Given the description of an element on the screen output the (x, y) to click on. 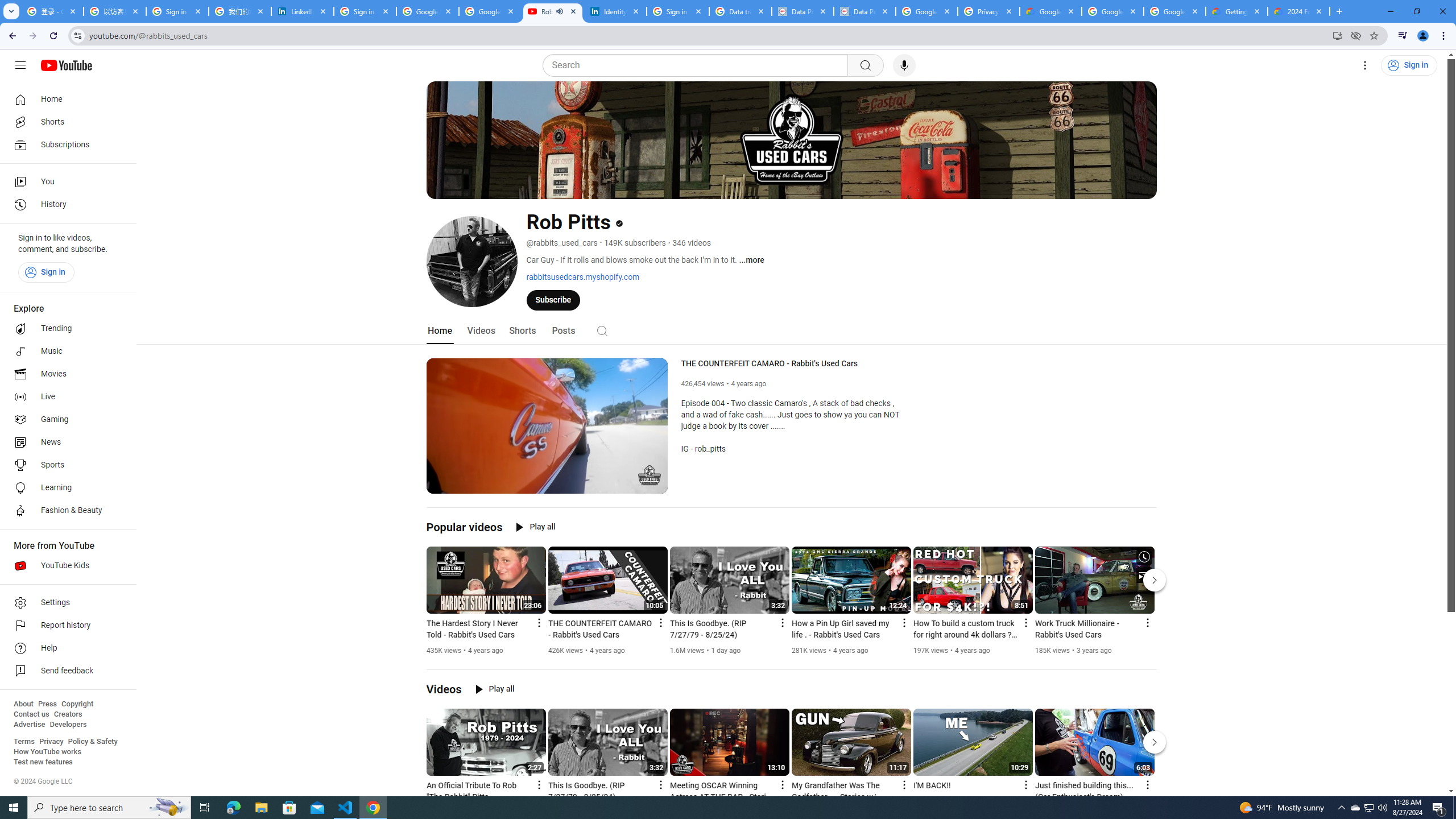
Google Workspace - Specific Terms (1111, 11)
Live (64, 396)
Rob Pitts - YouTube - Audio playing (552, 11)
Copyright (77, 703)
Channel watermark (649, 475)
THE COUNTERFEIT CAMARO - Rabbit's Used Cars (795, 363)
Subtitles/closed captions unavailable (609, 483)
Press (46, 703)
Movies (64, 373)
